Given the description of an element on the screen output the (x, y) to click on. 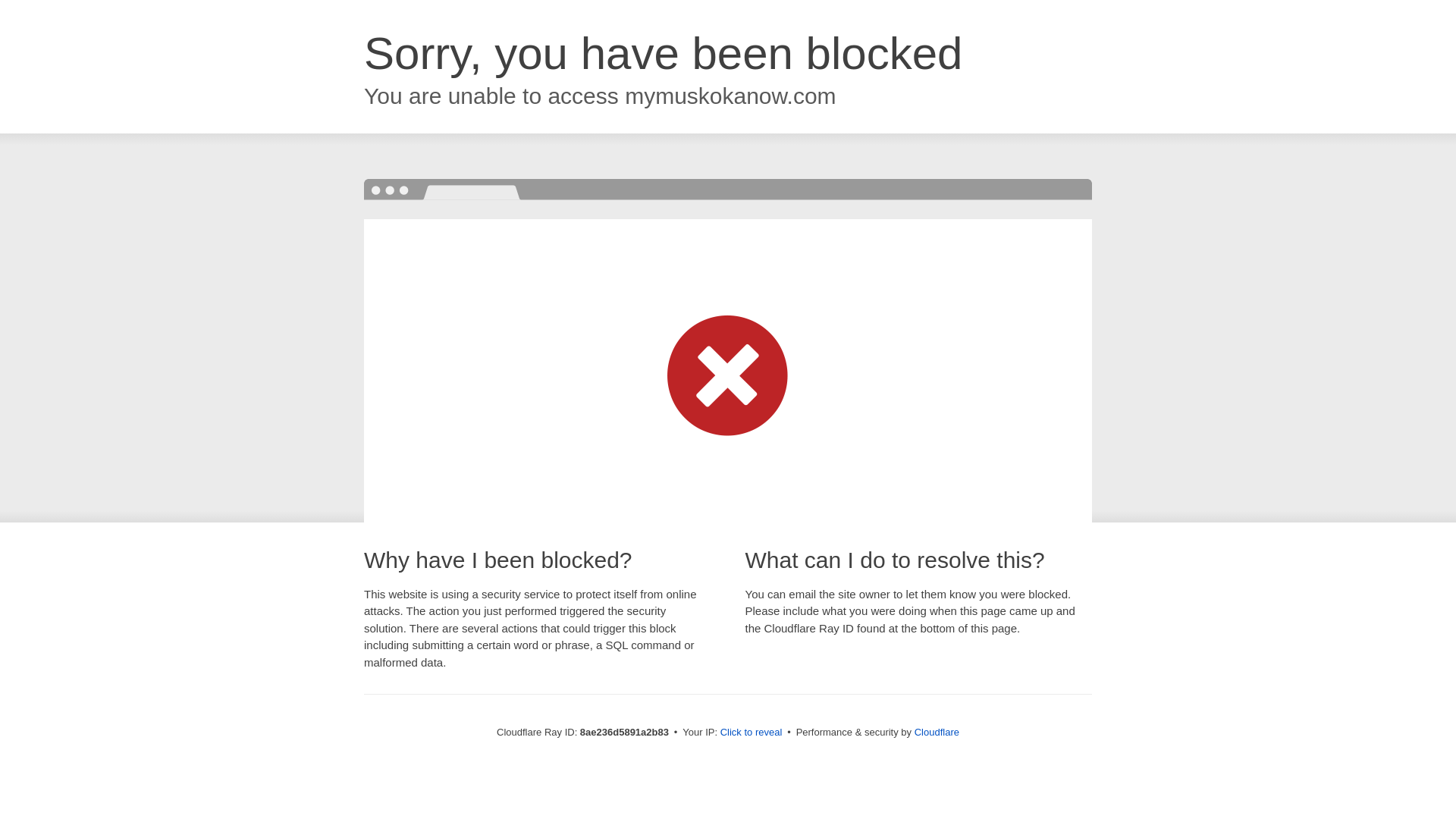
Cloudflare (936, 731)
Click to reveal (751, 732)
